Given the description of an element on the screen output the (x, y) to click on. 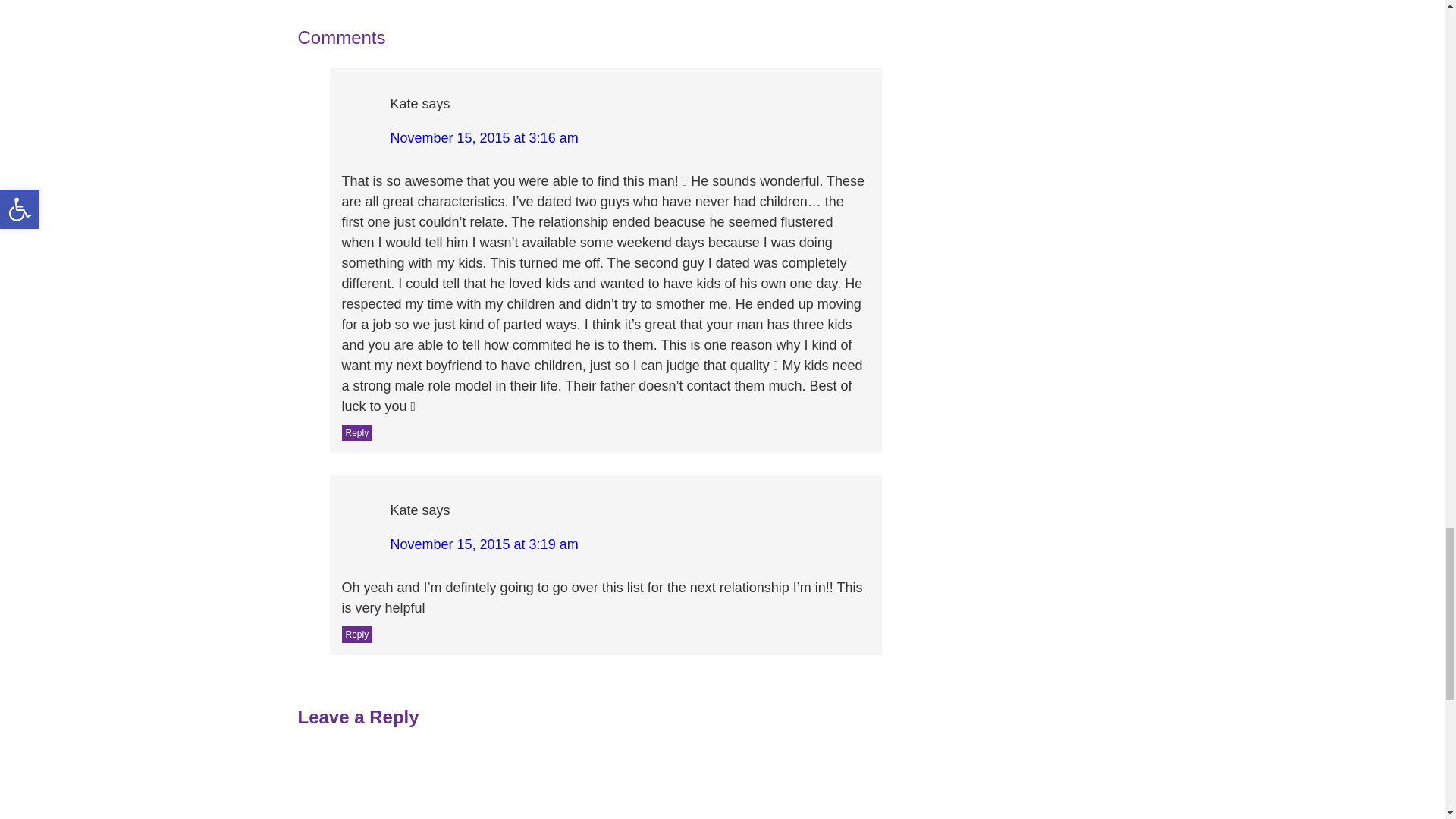
Comment Form (589, 780)
